Given the description of an element on the screen output the (x, y) to click on. 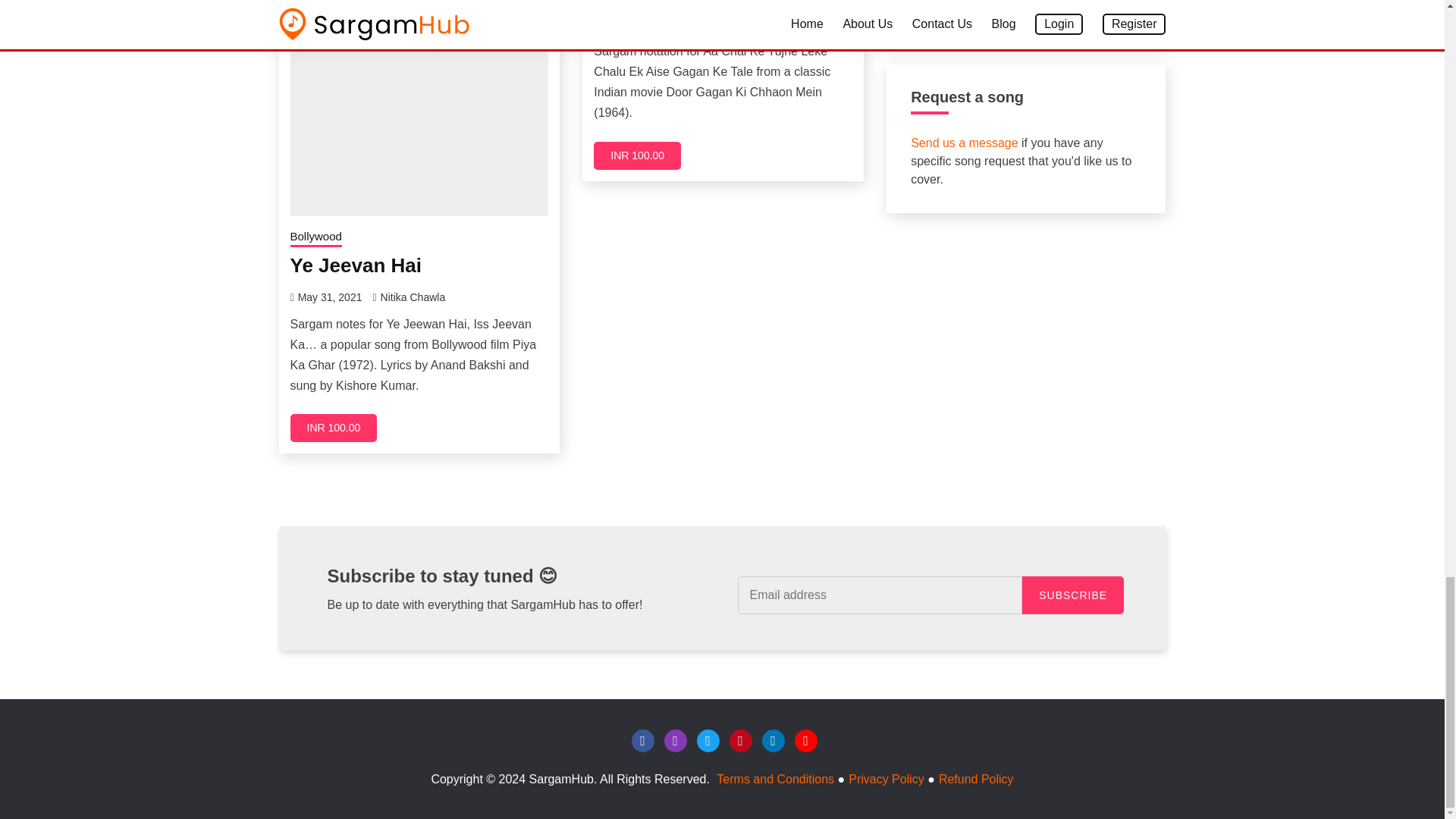
Subscribe (1073, 595)
